Given the description of an element on the screen output the (x, y) to click on. 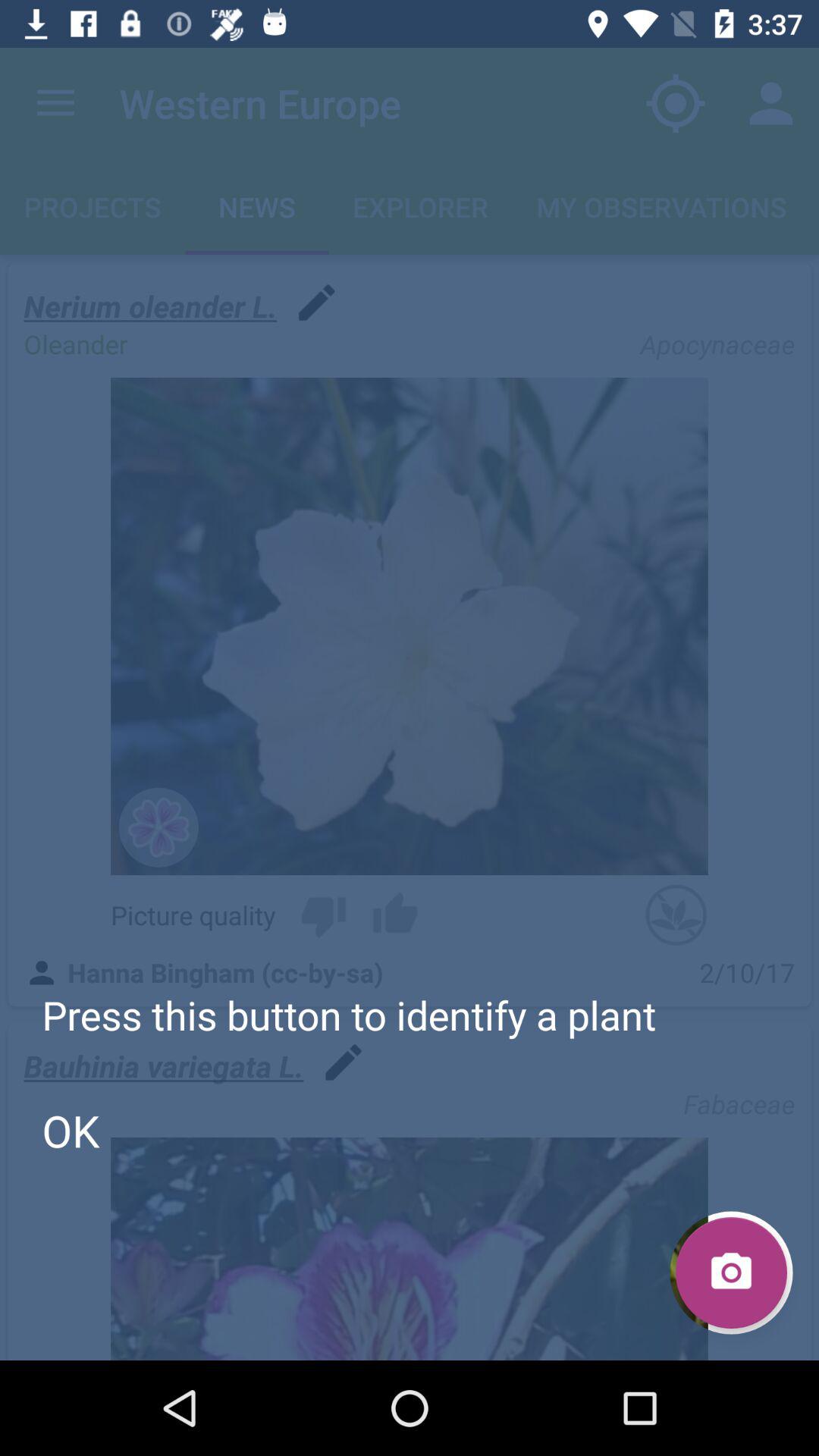
open item next to the western europe item (675, 103)
